Given the description of an element on the screen output the (x, y) to click on. 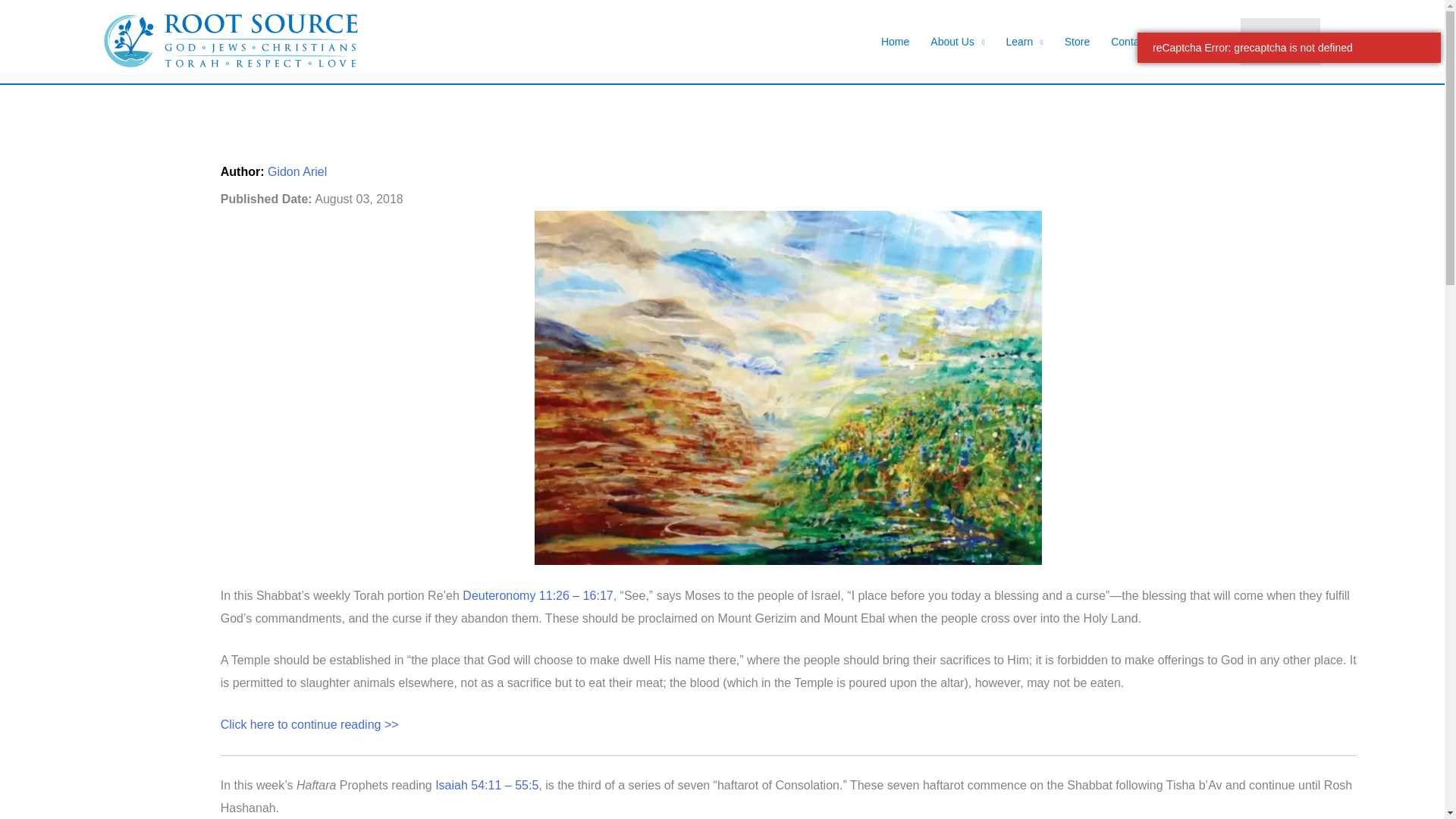
About Us (957, 41)
